Given the description of an element on the screen output the (x, y) to click on. 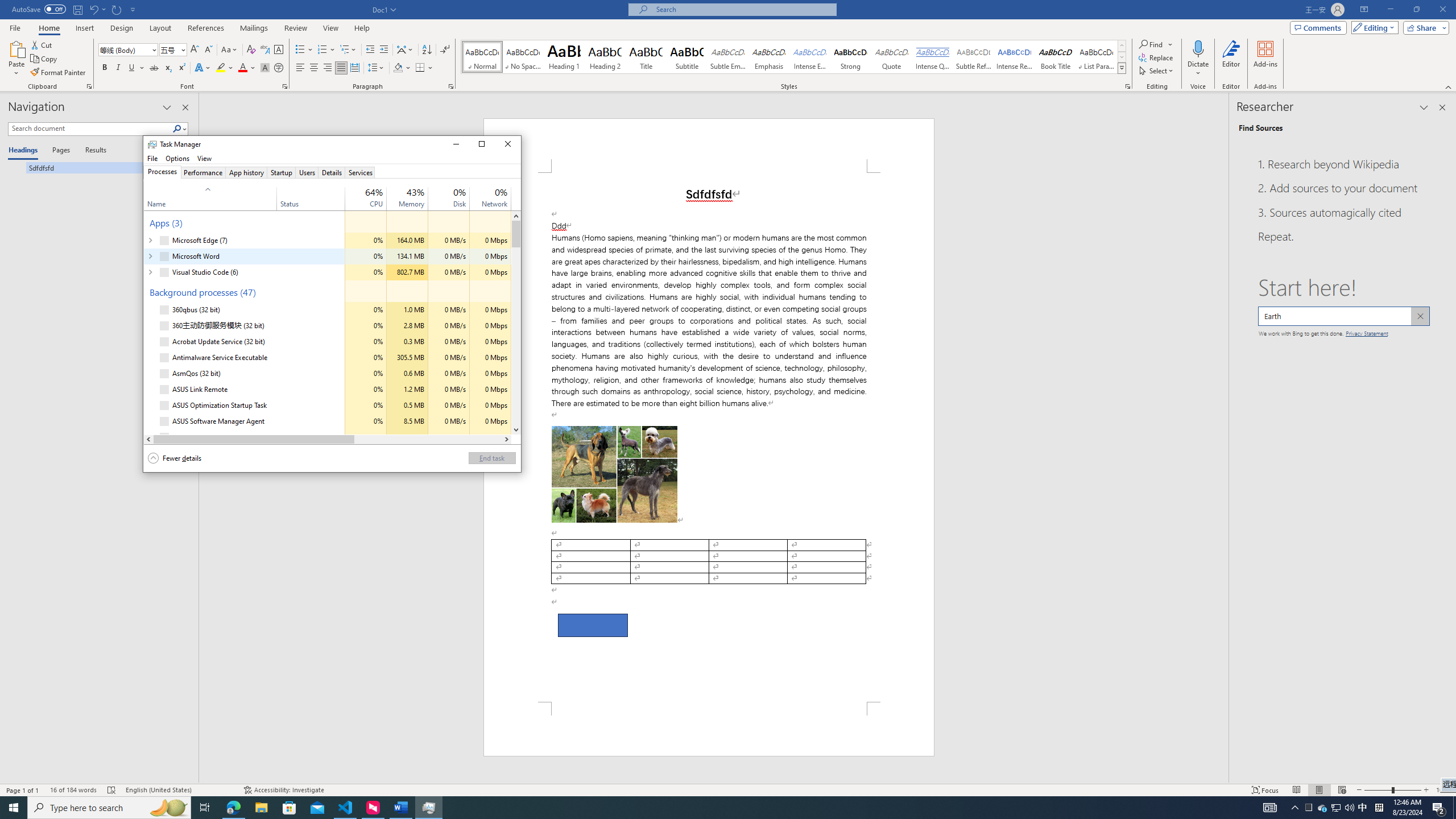
Memory (407, 437)
